Given the description of an element on the screen output the (x, y) to click on. 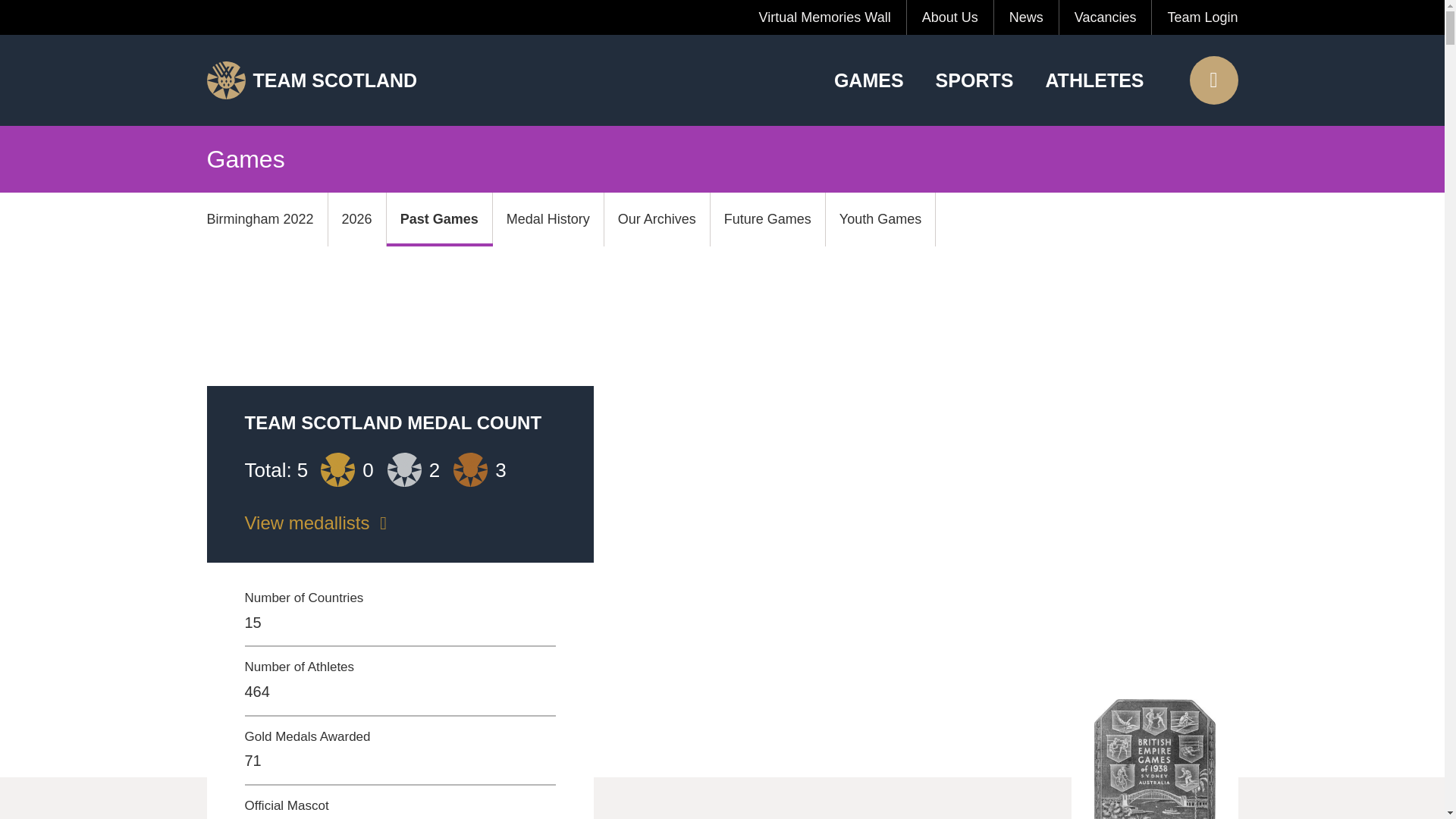
News (1026, 17)
2026 (358, 218)
Virtual Memories Wall (825, 17)
Youth Games (880, 218)
Birmingham 2022 (266, 218)
Youth Games (880, 218)
Vacancies (1106, 17)
View medallists (399, 522)
Future Games (767, 218)
Medal History (548, 218)
